Given the description of an element on the screen output the (x, y) to click on. 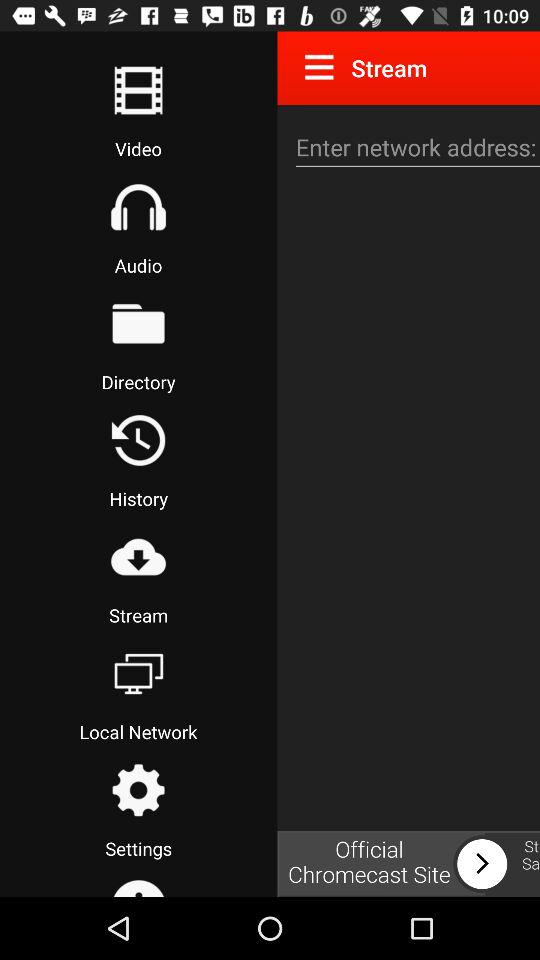
directory folder (138, 323)
